Given the description of an element on the screen output the (x, y) to click on. 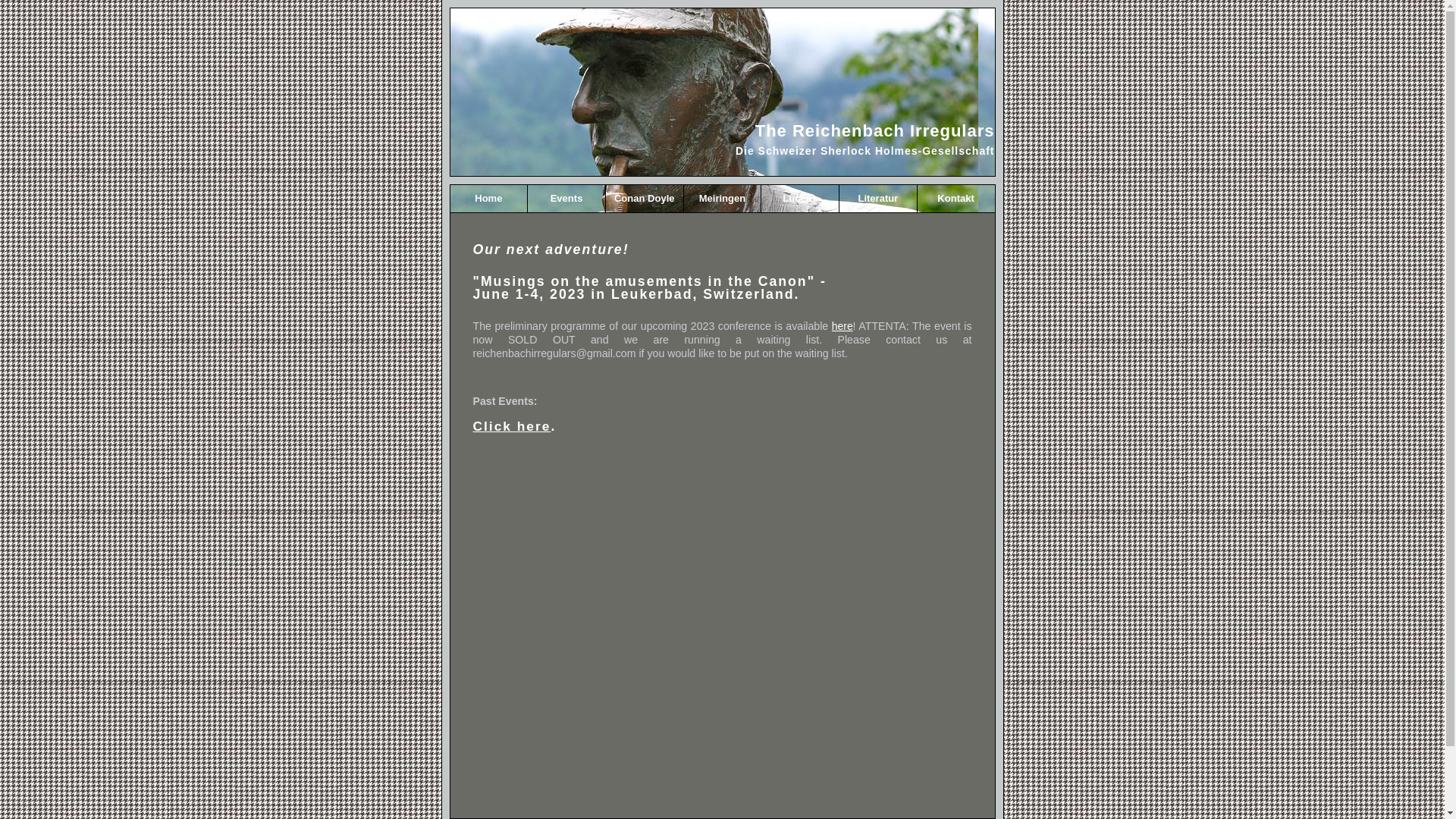
Click here Element type: text (512, 425)
Home Element type: text (487, 198)
here Element type: text (842, 326)
Lucens Element type: text (799, 198)
Kontakt Element type: text (955, 198)
Meiringen Element type: text (722, 198)
Literatur Element type: text (877, 198)
Conan Doyle Element type: text (644, 198)
Events Element type: text (566, 198)
